Given the description of an element on the screen output the (x, y) to click on. 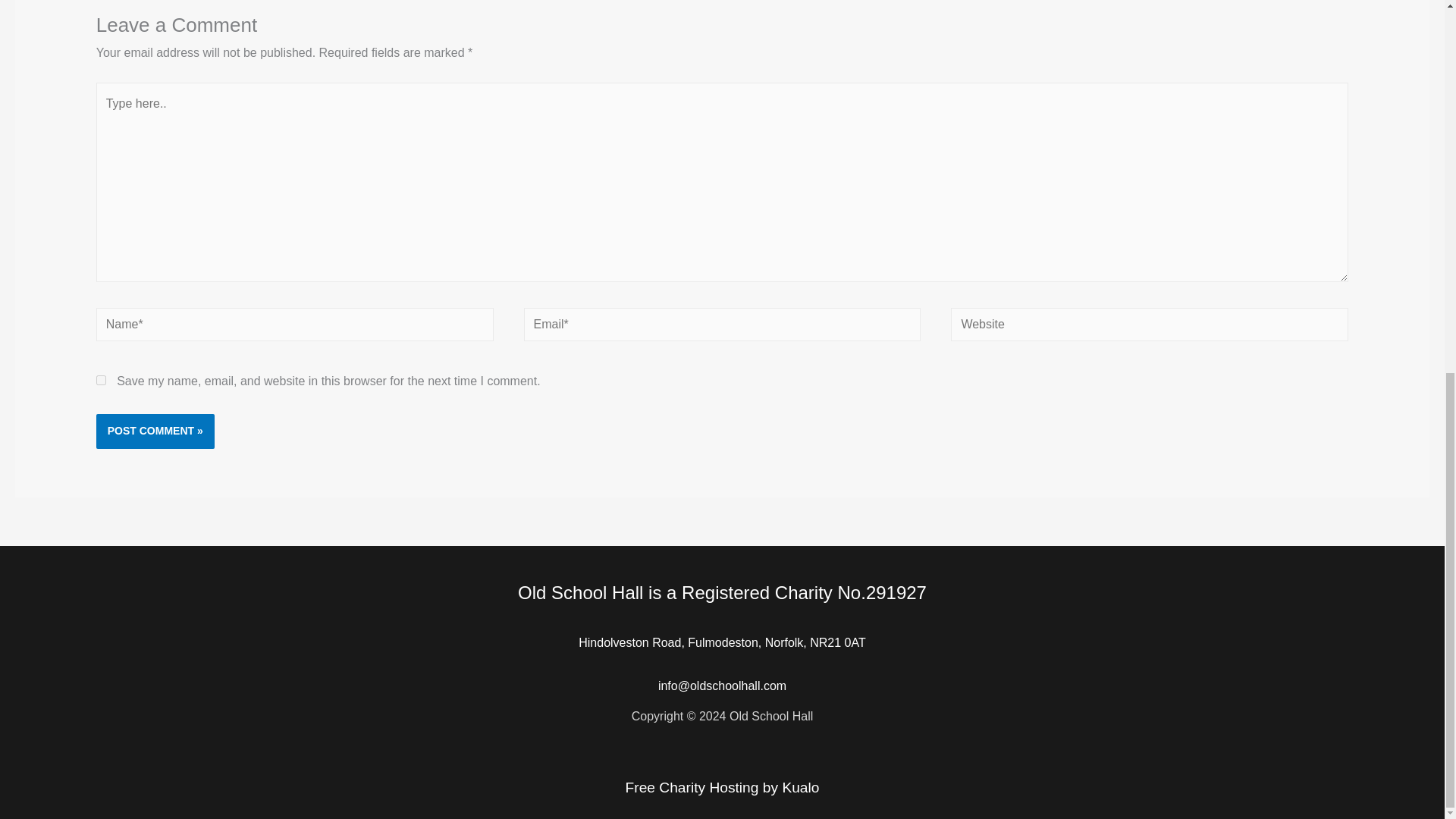
yes (101, 379)
Free Charity Hosting by Kualo (722, 787)
